Given the description of an element on the screen output the (x, y) to click on. 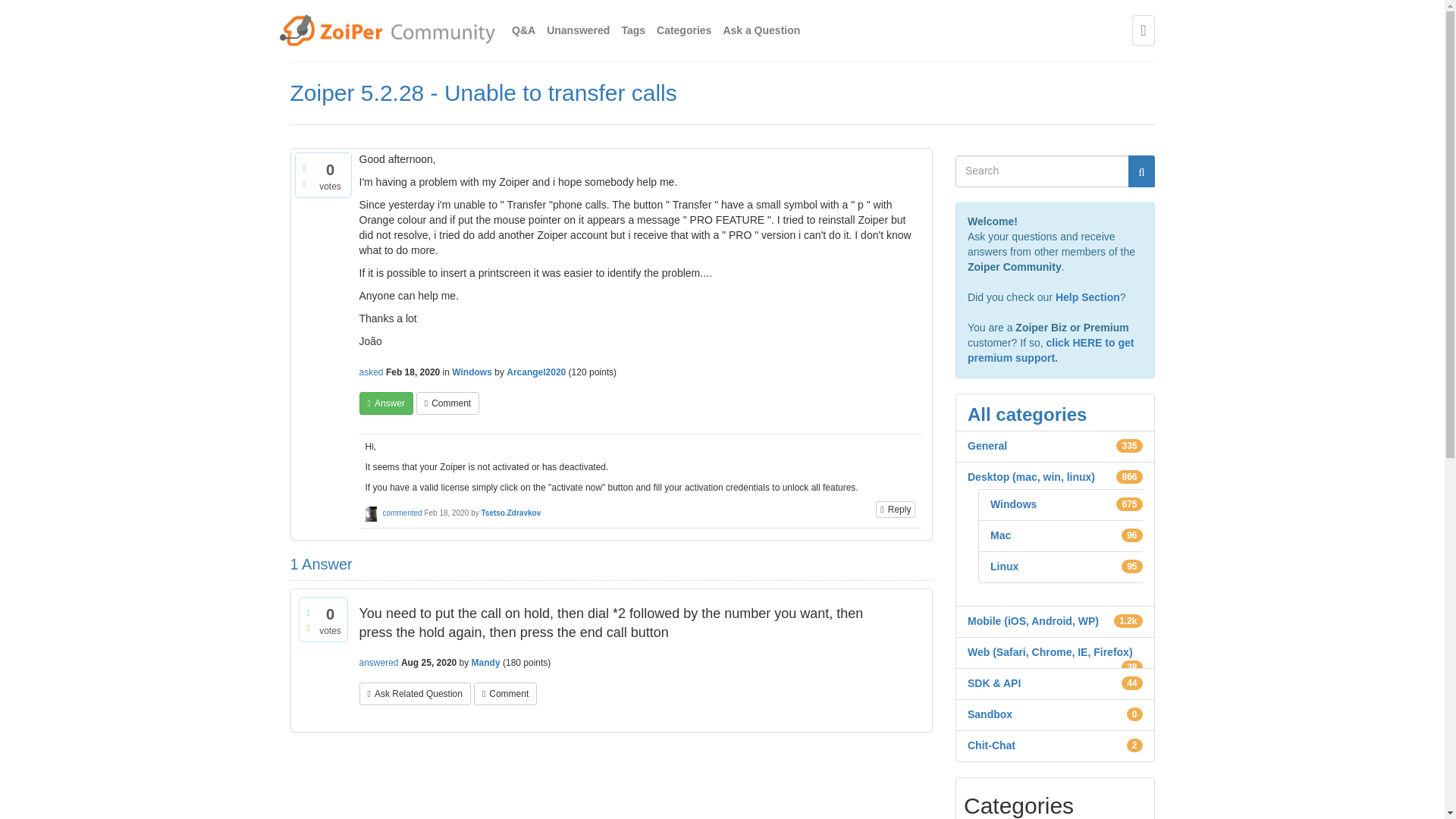
answered (378, 662)
Tsetso.Zdravkov (510, 512)
Comment (505, 693)
Zoiper 5.2.28 - Unable to transfer calls (483, 92)
commented (401, 512)
Categories (683, 30)
Unanswered (578, 30)
Ask a Question (760, 30)
Windows (471, 371)
Mandy (485, 662)
